Given the description of an element on the screen output the (x, y) to click on. 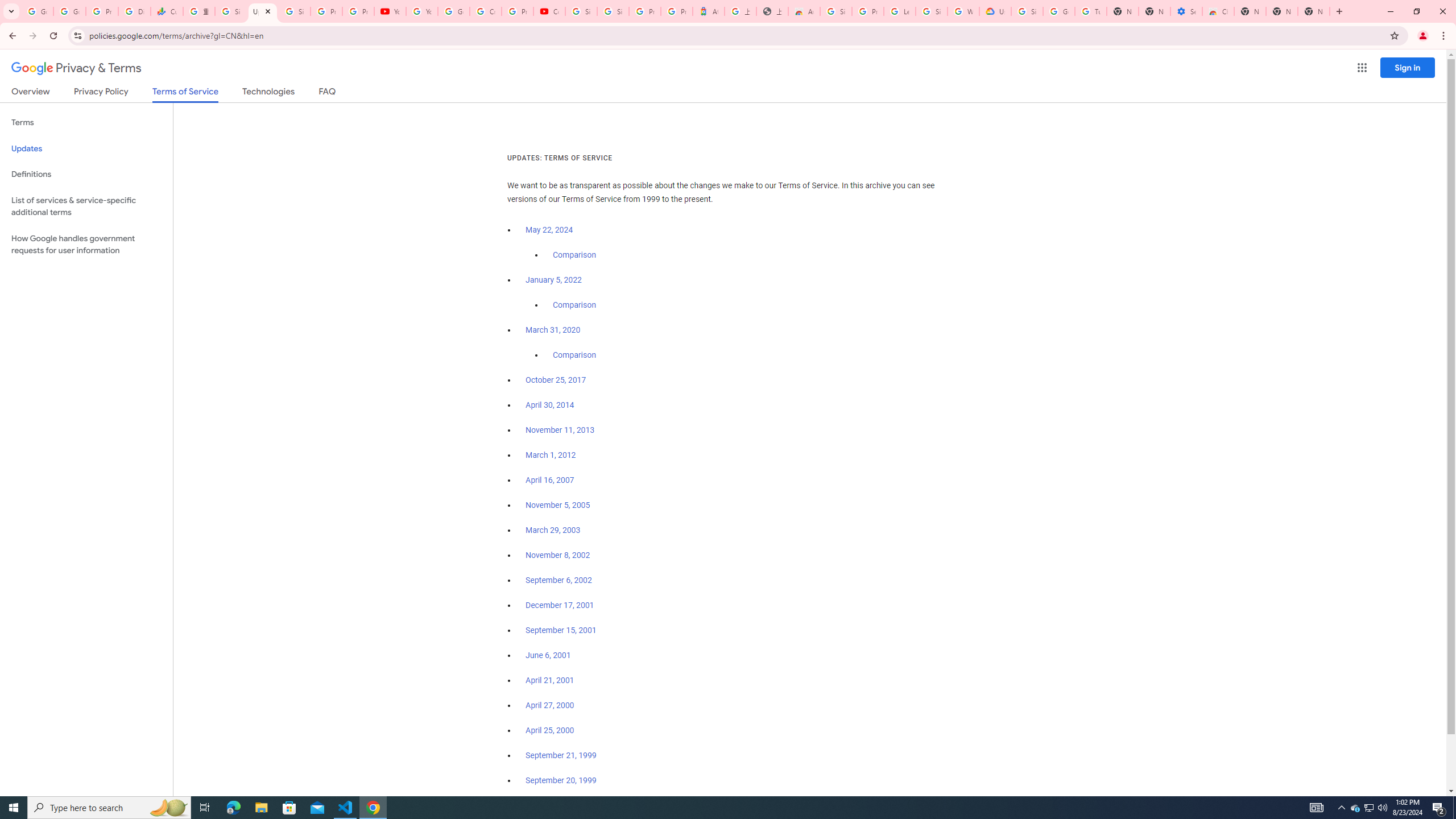
YouTube (421, 11)
November 8, 2002 (557, 555)
March 1, 2012 (550, 455)
November 5, 2005 (557, 505)
March 29, 2003 (552, 530)
April 21, 2001 (550, 679)
Sign in - Google Accounts (230, 11)
New Tab (1313, 11)
